Given the description of an element on the screen output the (x, y) to click on. 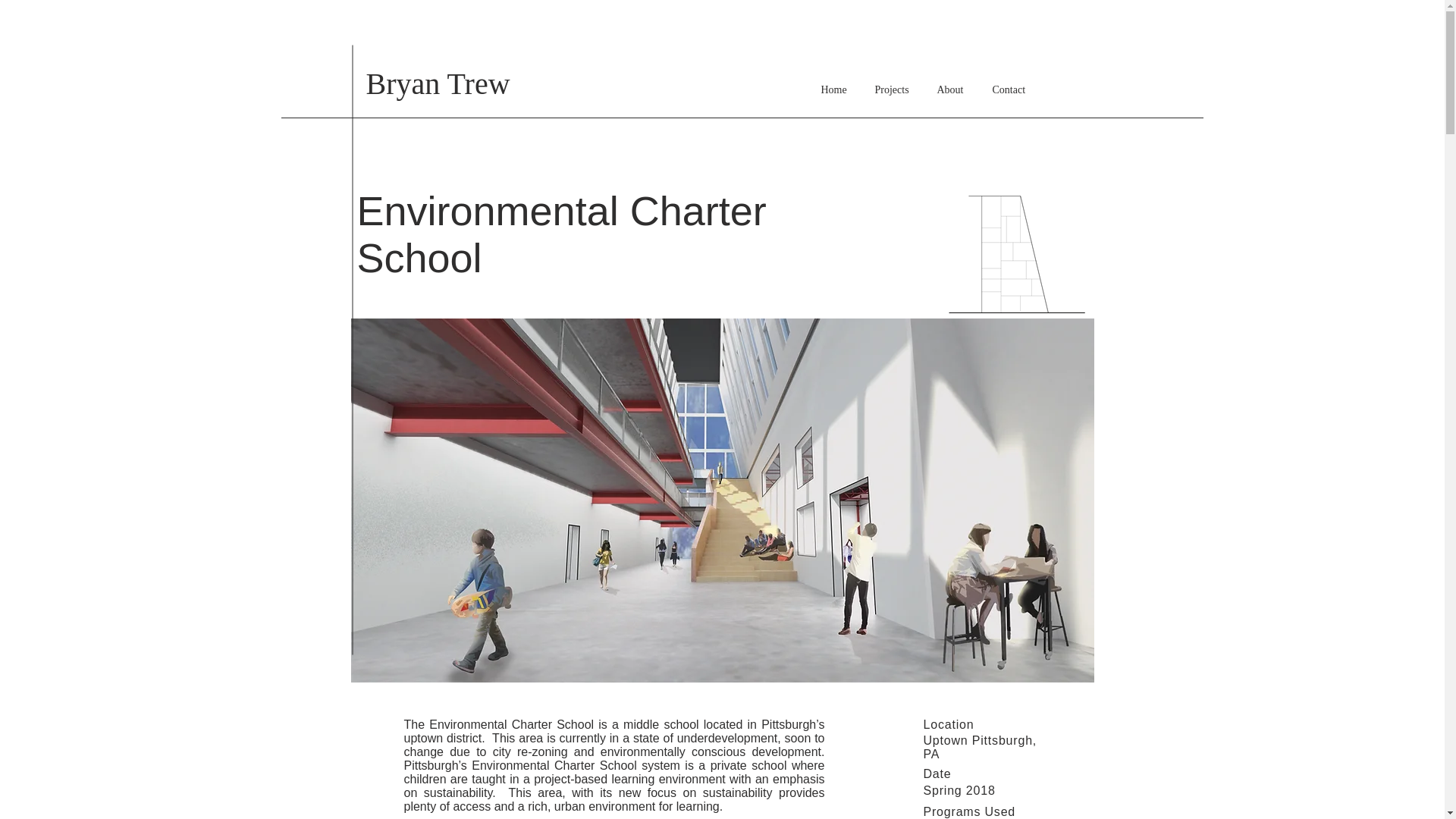
Contact (1014, 89)
About (951, 89)
Bryan Trew (437, 82)
Home (836, 89)
Projects (893, 89)
